Given the description of an element on the screen output the (x, y) to click on. 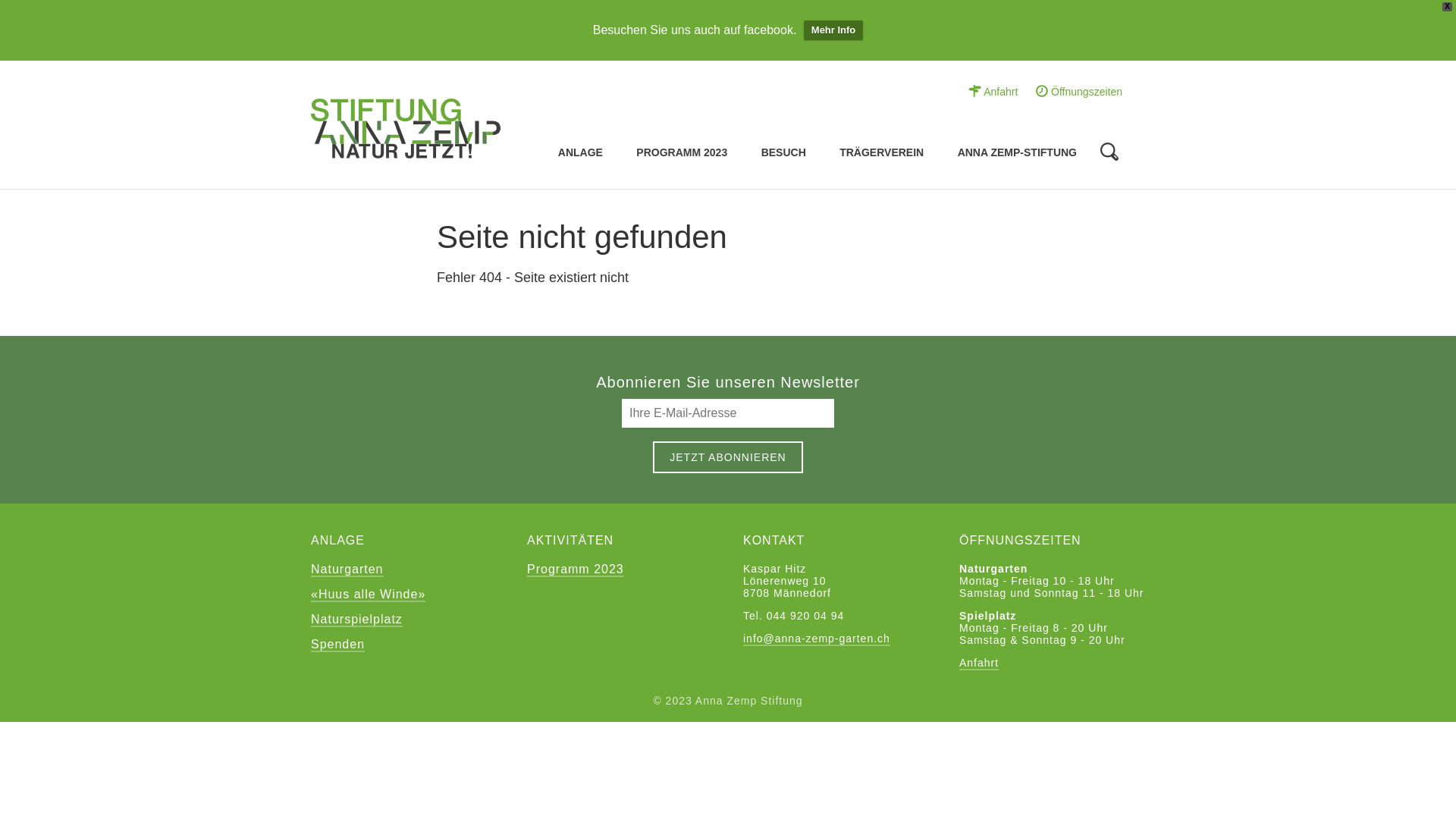
Naturgarten Element type: text (346, 569)
Spenden Element type: text (337, 644)
PROGRAMM 2023 Element type: text (681, 153)
BESUCH Element type: text (783, 153)
ANLAGE Element type: text (580, 153)
Jetzt Abonnieren Element type: text (727, 457)
info@anna-zemp-garten.ch Element type: text (816, 639)
Programm 2023 Element type: text (575, 569)
Anfahrt Element type: text (993, 91)
ANNA ZEMP-STIFTUNG Element type: text (1016, 153)
Anfahrt Element type: text (978, 663)
suchen Element type: text (504, 117)
Mehr Info Element type: text (833, 30)
Naturspielplatz Element type: text (356, 619)
